Given the description of an element on the screen output the (x, y) to click on. 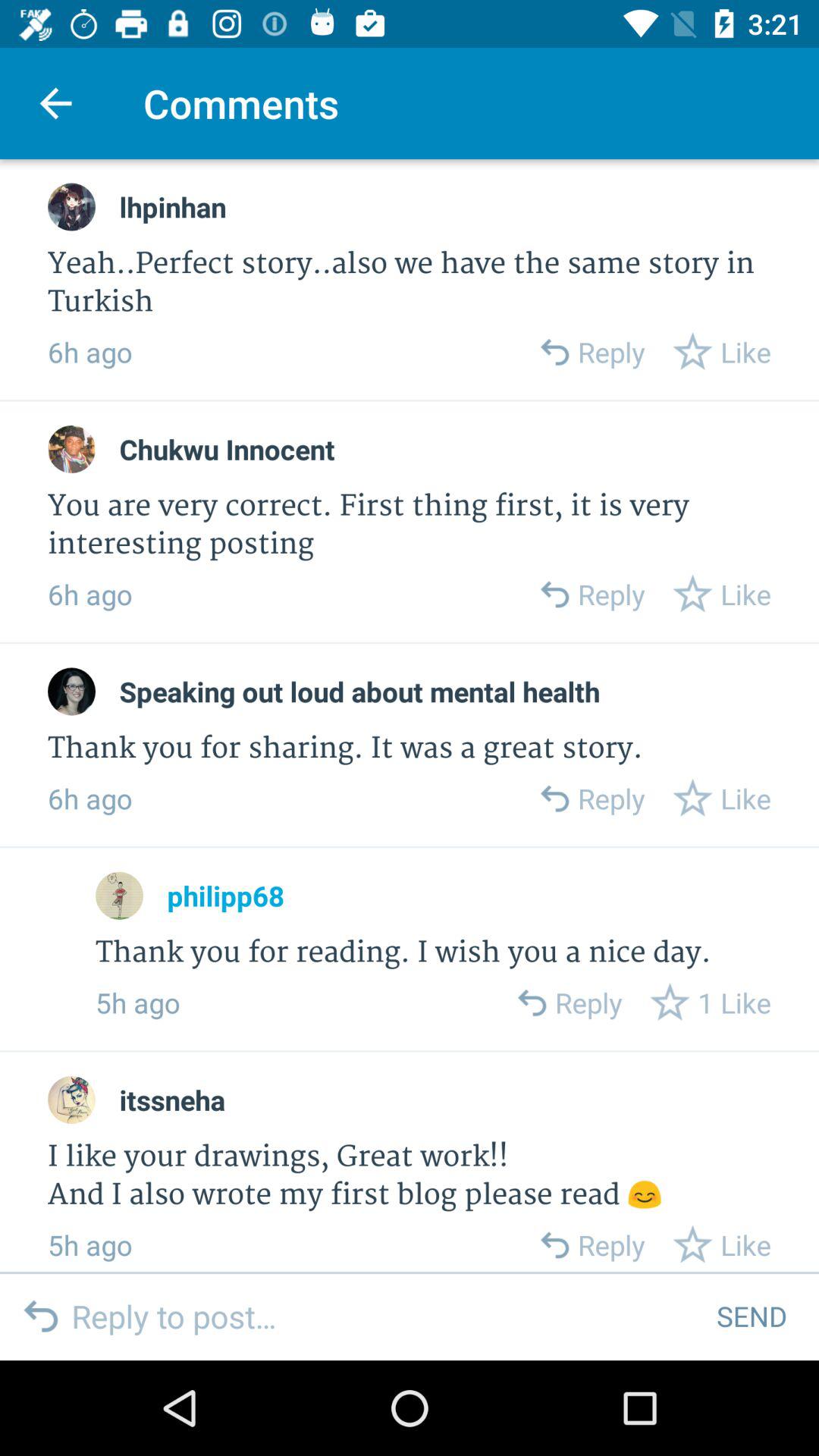
go back (553, 594)
